Given the description of an element on the screen output the (x, y) to click on. 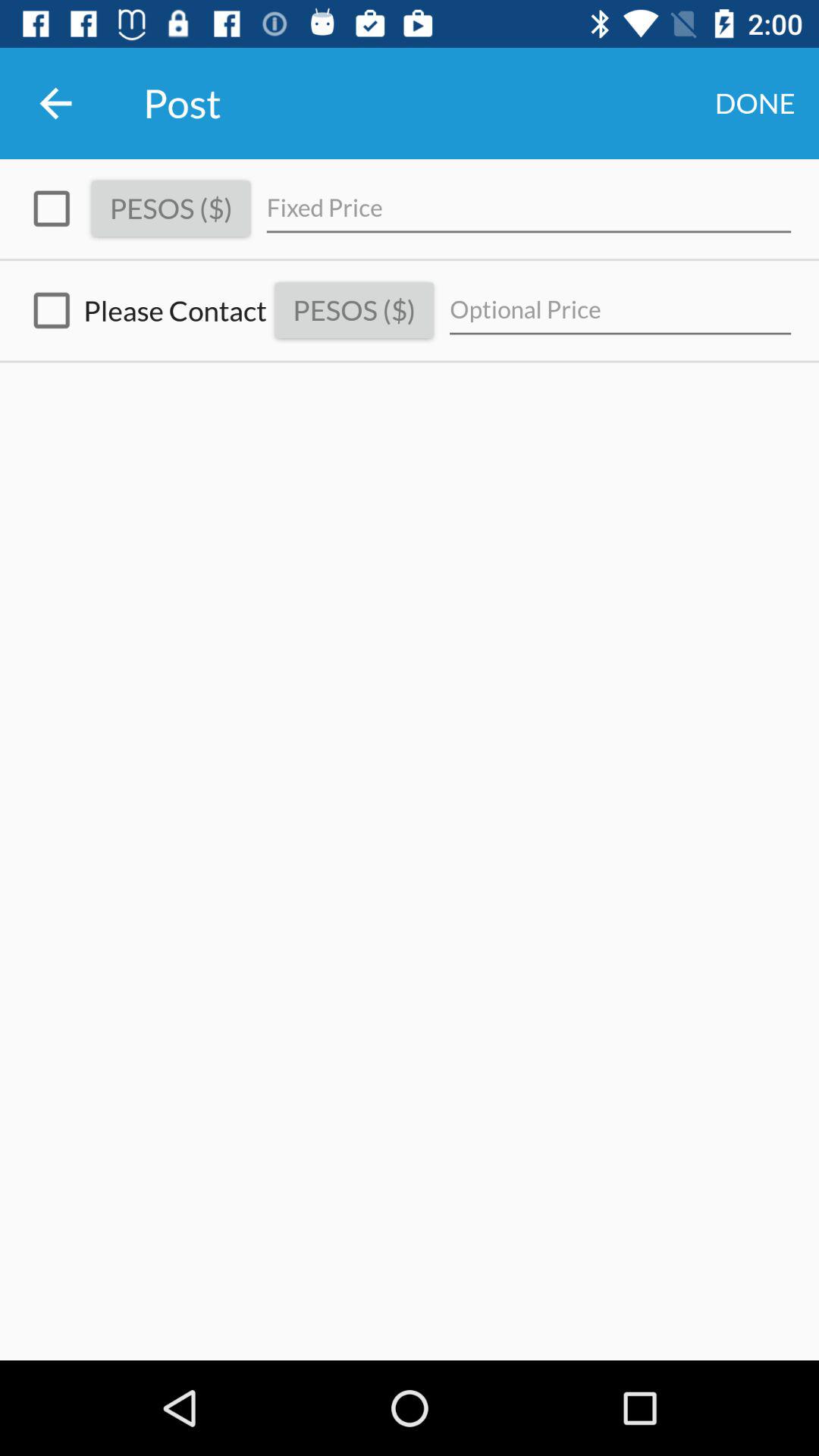
select first option pesos (51, 208)
